Given the description of an element on the screen output the (x, y) to click on. 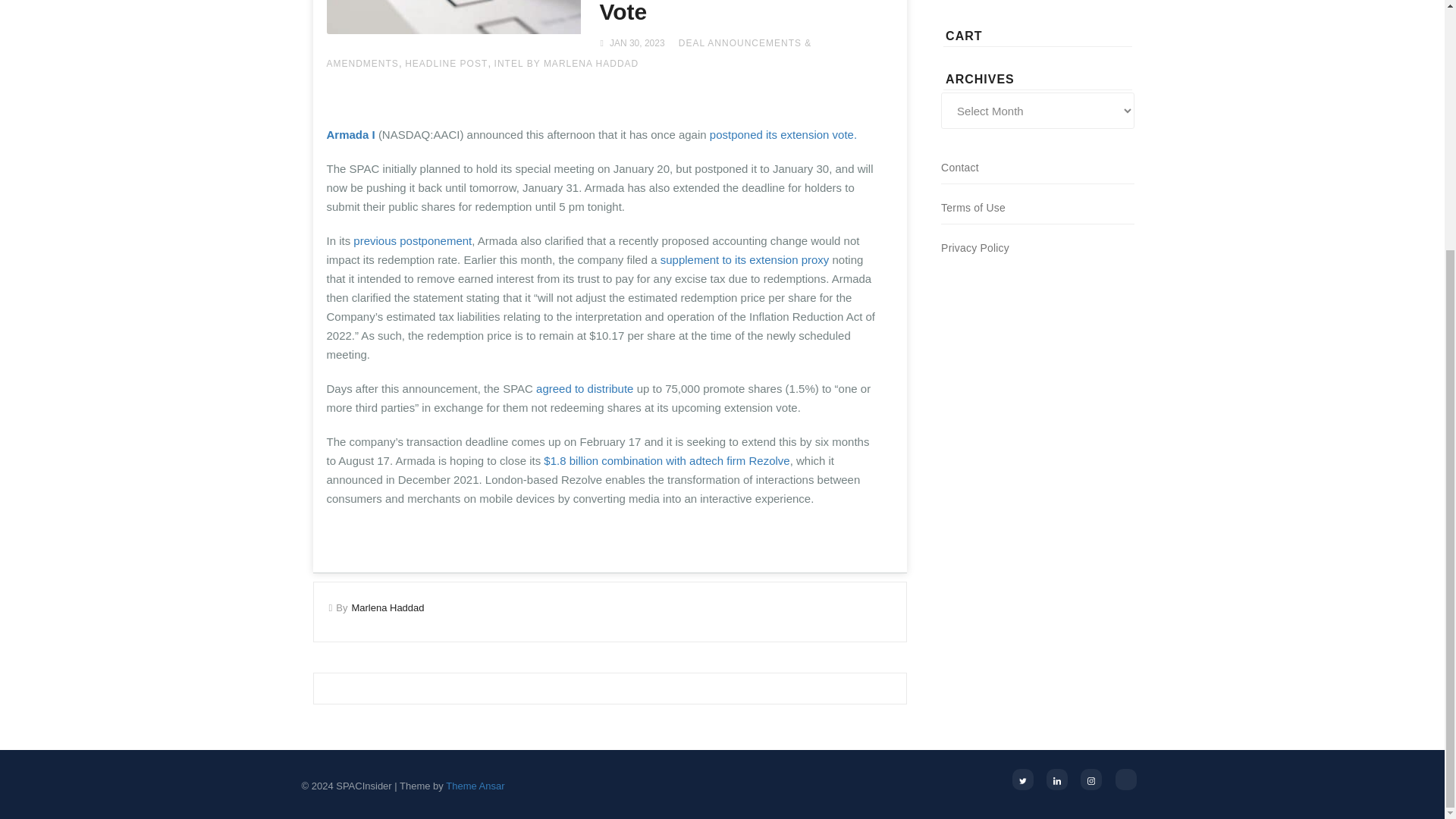
Instagram (1091, 779)
Theme Ansar (474, 785)
Apple Podcasts (1125, 779)
supplement to its extension proxy (745, 259)
Armada I (350, 133)
Twitter (1022, 779)
Marlena Haddad (386, 607)
INTEL (509, 63)
LinkedIn (1056, 779)
agreed to distribute (584, 388)
HEADLINE POST (445, 63)
previous postponement (412, 240)
Privacy Policy (974, 247)
Terms of Use (973, 207)
BY MARLENA HADDAD (583, 63)
